Given the description of an element on the screen output the (x, y) to click on. 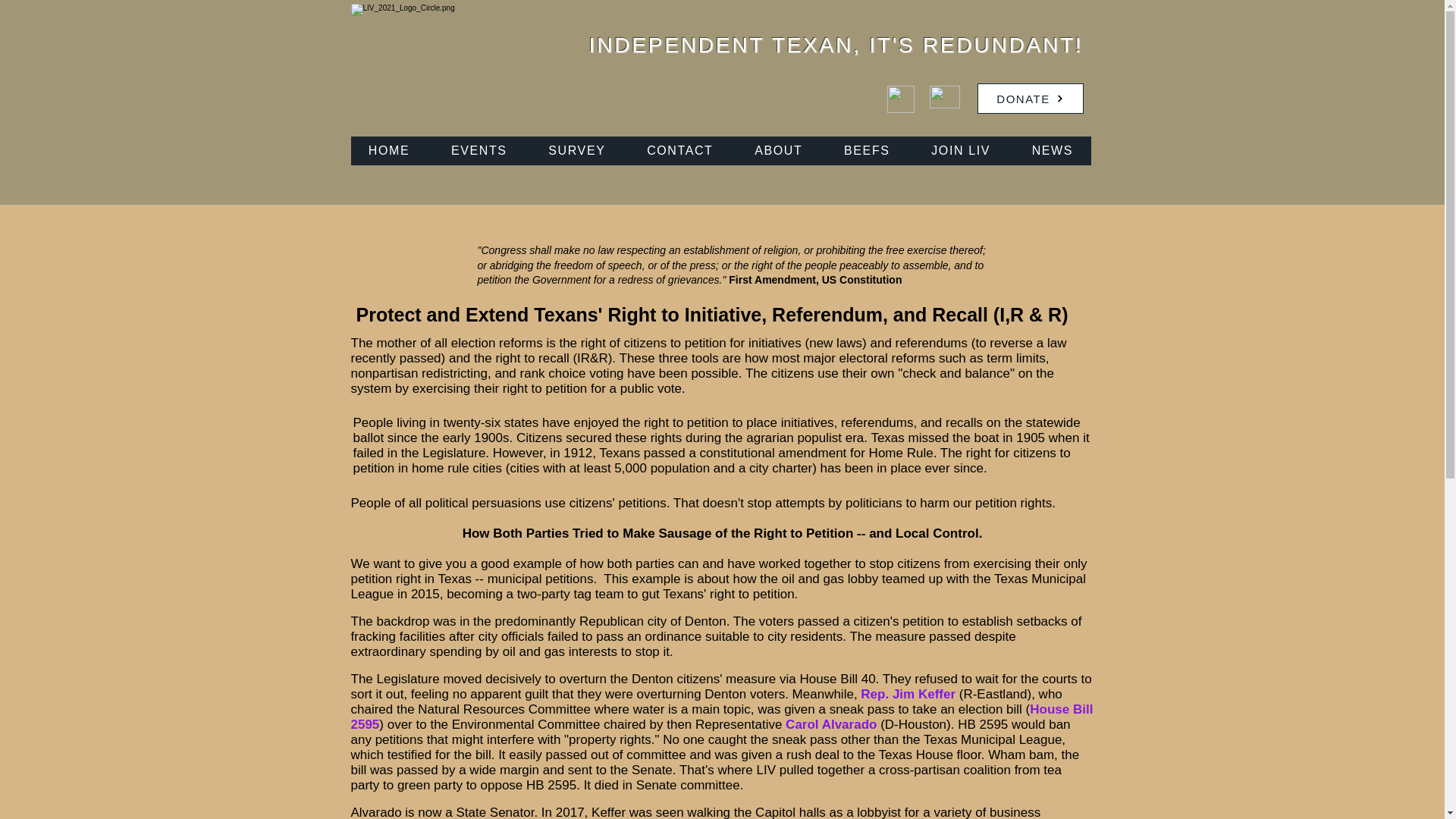
instagram.png (900, 99)
ABOUT (778, 150)
SURVEY (577, 150)
JOIN LIV (960, 150)
DONATE (1029, 98)
BEEFS (867, 150)
CONTACT (679, 150)
EVENTS (478, 150)
NEWS (1051, 150)
HOME (388, 150)
Carol Alvarado (831, 724)
LIV logo copy.png (416, 70)
twitter.png (944, 96)
House Bill 2595 (721, 716)
